Given the description of an element on the screen output the (x, y) to click on. 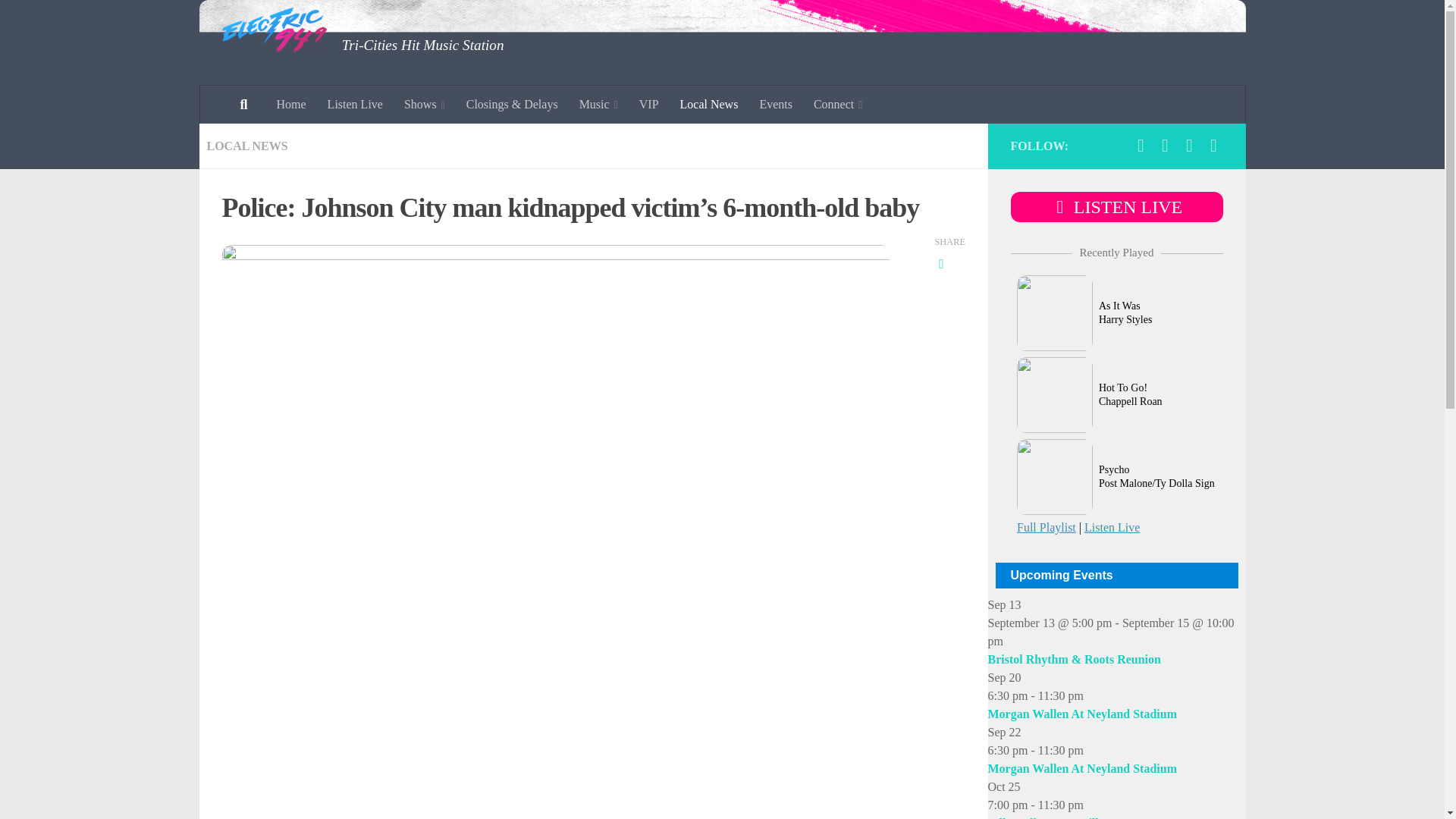
Home (289, 104)
Follow us on Email (1213, 145)
Follow us on Snapchat (1188, 145)
Shows (424, 104)
Jelly Roll In Knoxville (1045, 817)
Morgan Wallen At Neyland Stadium (1081, 768)
Listen Live (355, 104)
Follow us on Facebook (1140, 145)
Morgan Wallen At Neyland Stadium (1081, 713)
Follow us on Instagram (1164, 145)
